Given the description of an element on the screen output the (x, y) to click on. 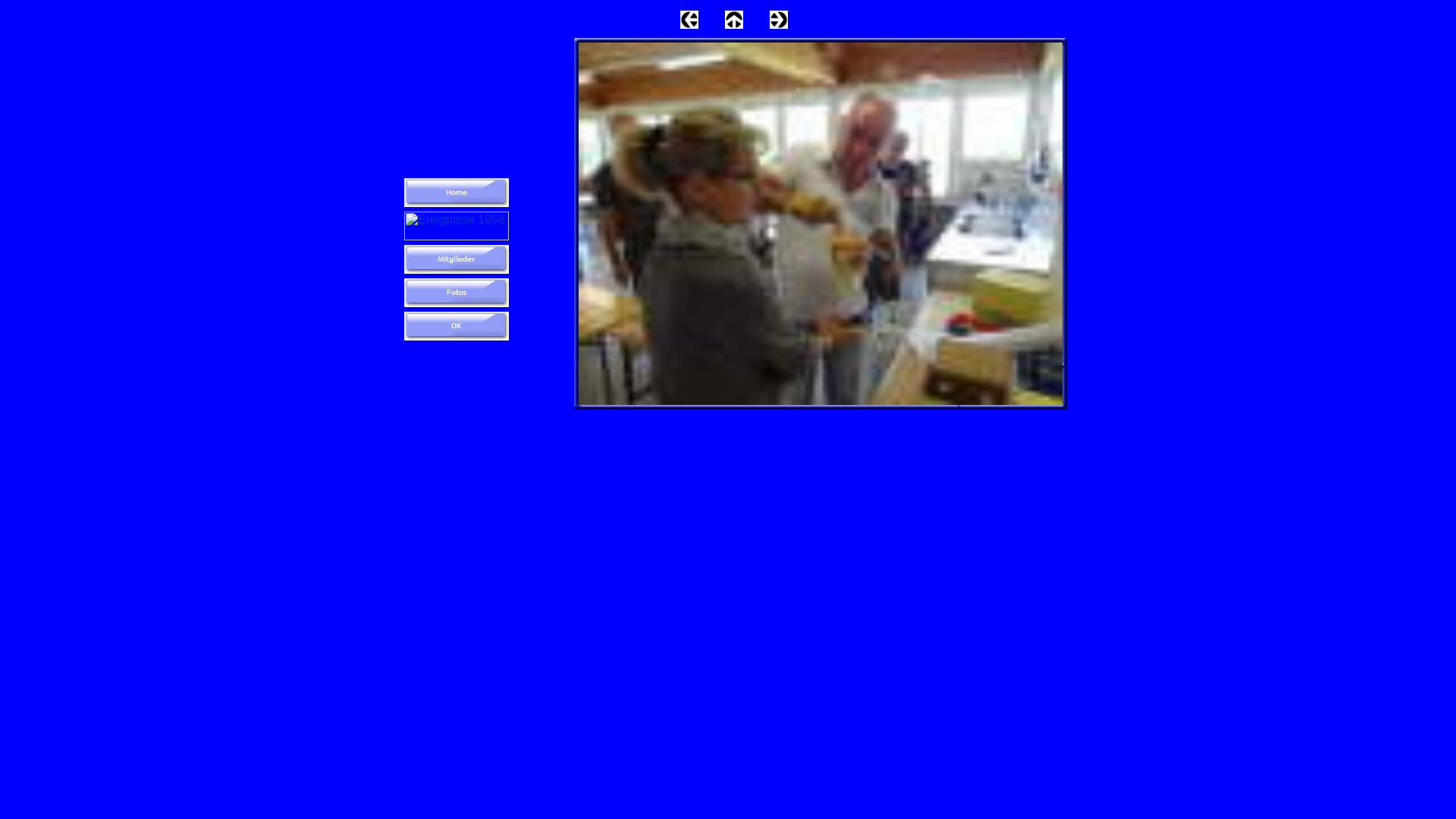
OK Element type: hover (456, 325)
Fotos Element type: hover (456, 292)
Ereignisse 1958 Element type: hover (456, 225)
DSC02752 Element type: hover (820, 223)
Mitglieder Element type: hover (456, 258)
Home Element type: hover (456, 192)
